Given the description of an element on the screen output the (x, y) to click on. 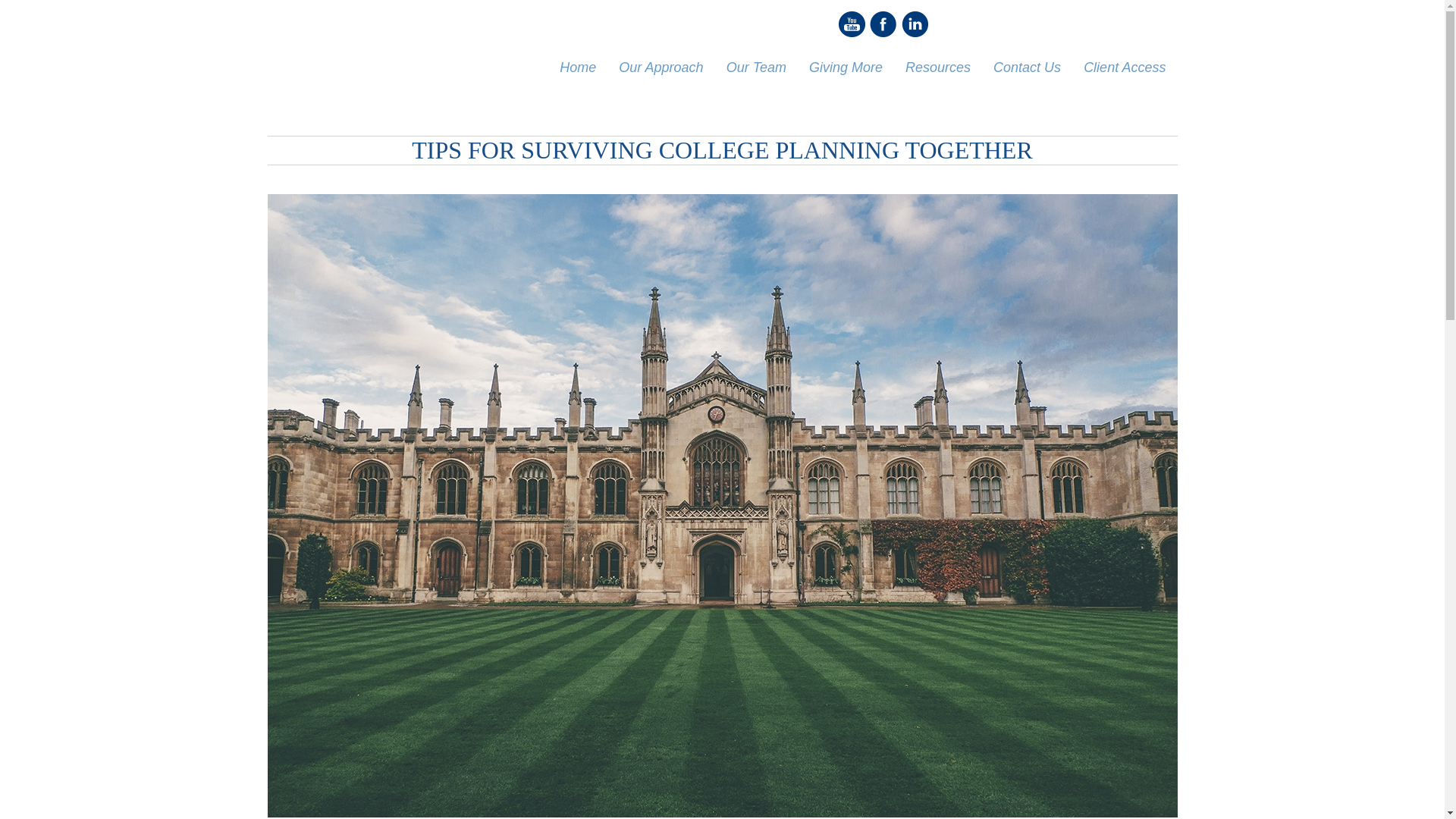
Giving More (845, 67)
Client Access (1123, 67)
Contact Us (1026, 67)
Our Approach (660, 67)
Our Team (755, 67)
Resources (937, 67)
Home (577, 67)
